Given the description of an element on the screen output the (x, y) to click on. 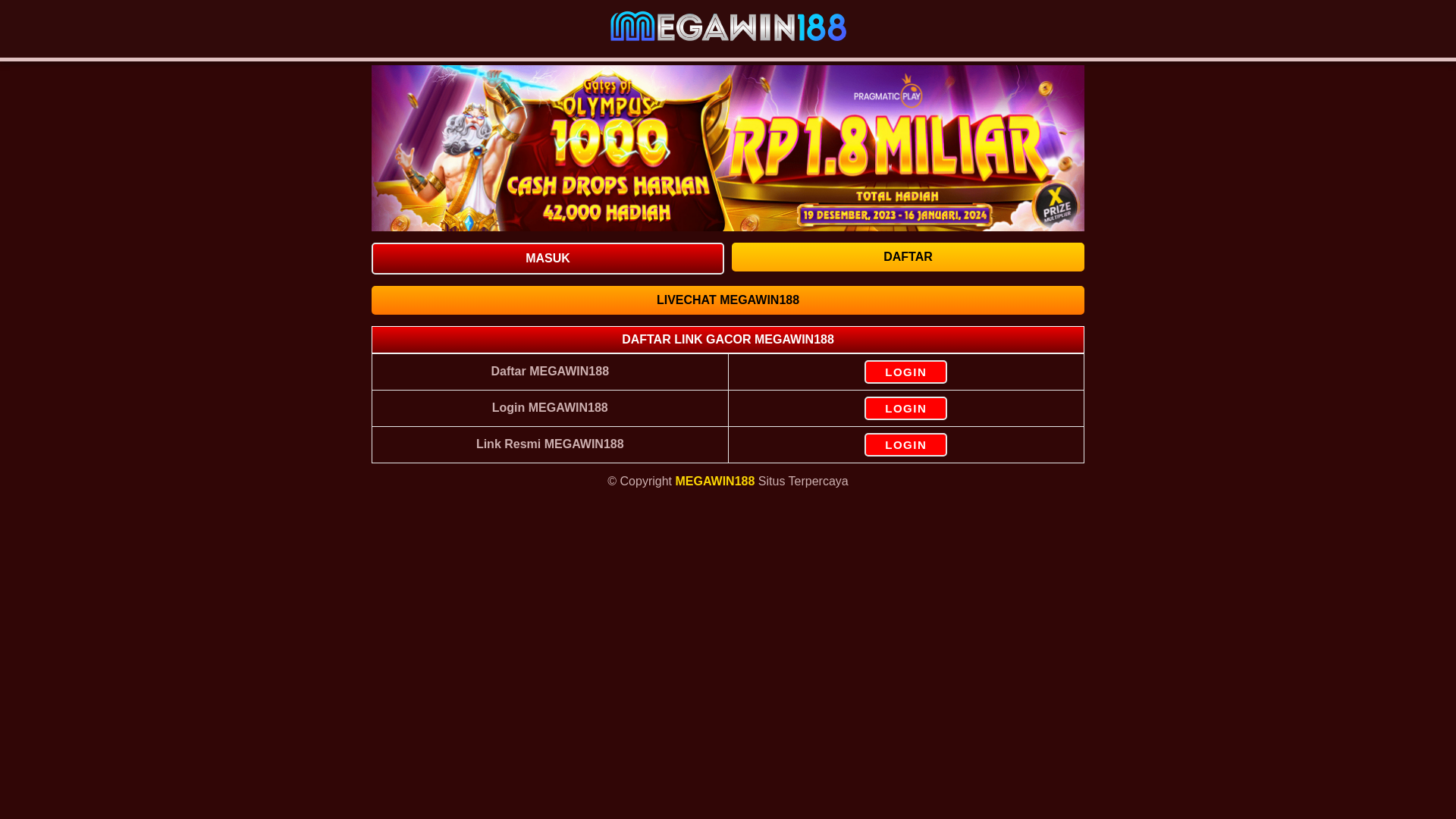
MASUK (547, 258)
LOGIN (905, 408)
LOGIN (905, 372)
LOGIN (905, 408)
LIVECHAT MEGAWIN188 (727, 299)
LOGIN (905, 444)
MEGAWIN188 (714, 481)
LOGIN (905, 371)
DAFTAR (908, 256)
LOGIN (905, 444)
